Given the description of an element on the screen output the (x, y) to click on. 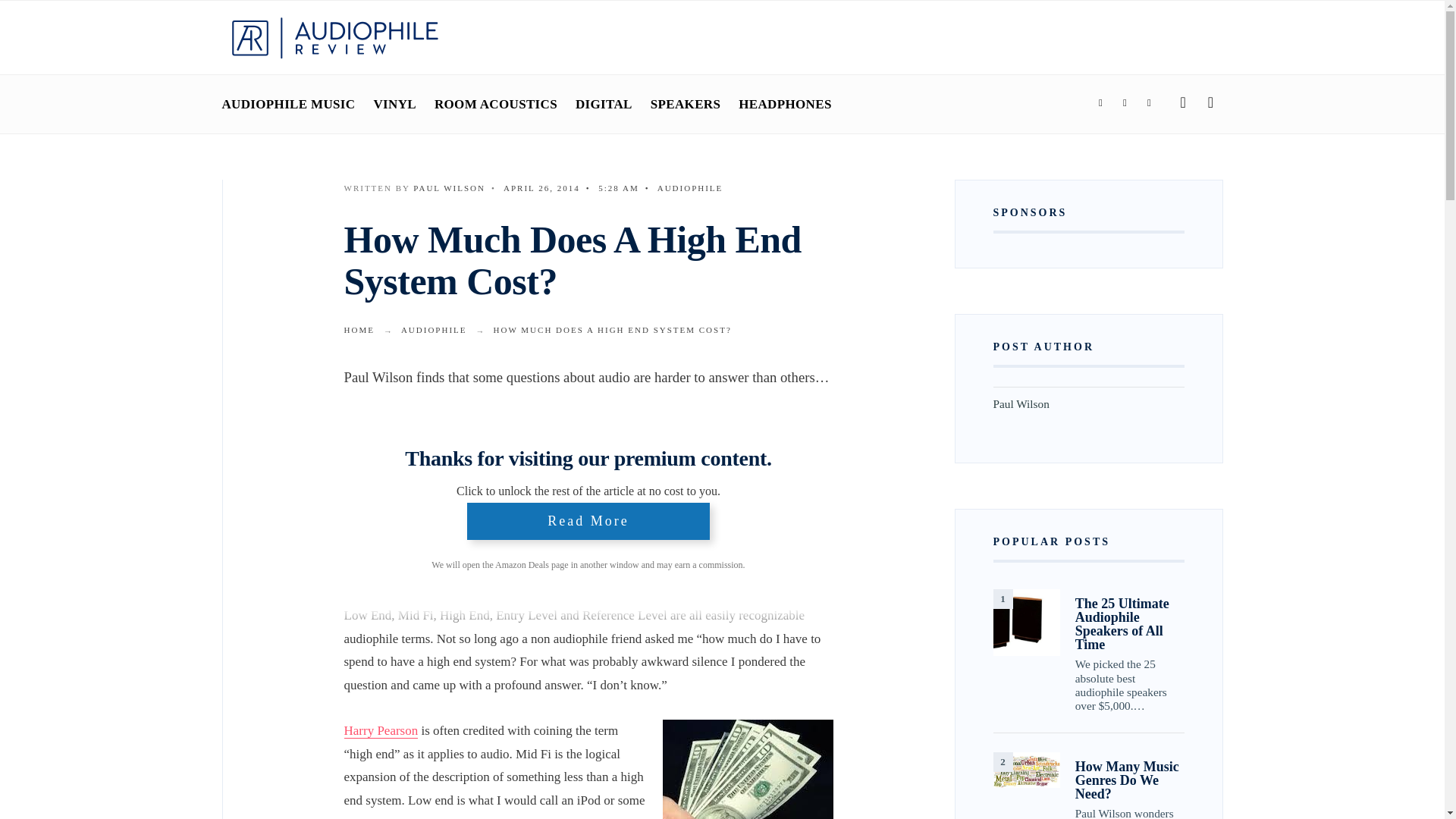
Twitter (1124, 103)
Paul Wilson (448, 187)
Harry Pearson (381, 730)
Audiophile Speakers on Sale at AudioAdvice (504, 500)
How Many Music Genres Do We Need? (1025, 770)
ROOM ACOUSTICS (495, 104)
SPEAKERS (685, 104)
AUDIOPHILE (434, 329)
Facebook (1099, 103)
AUDIOPHILE (690, 187)
AUDIOPHILE MUSIC (288, 104)
The 25 Ultimate Audiophile Speakers of All Time (1025, 622)
DIGITAL (603, 104)
PAUL WILSON (448, 187)
HEADPHONES (784, 104)
